Given the description of an element on the screen output the (x, y) to click on. 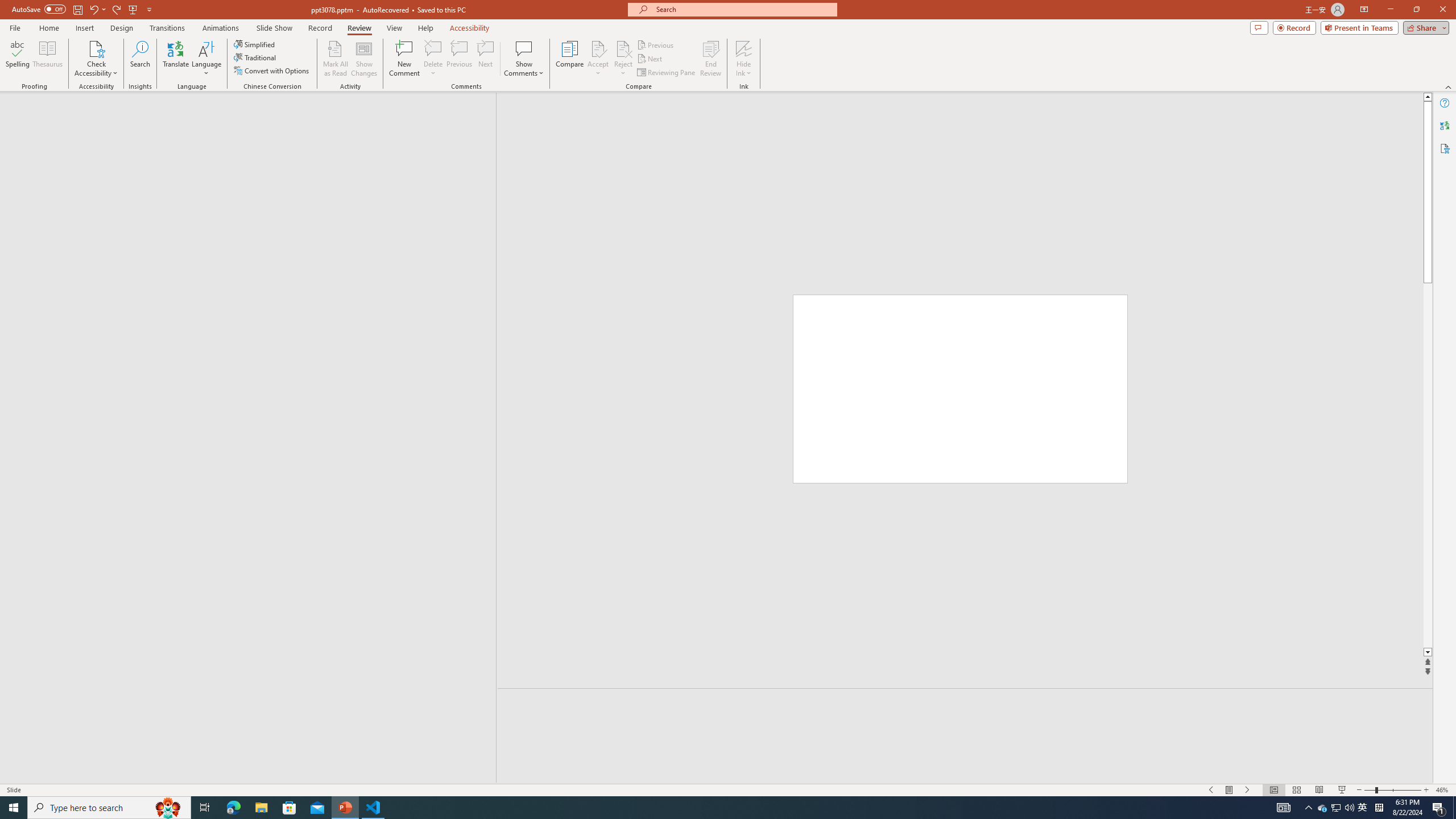
Traditional (255, 56)
Class: MsoCommandBar (728, 789)
Accept (598, 58)
Hide Ink (743, 48)
Show Comments (524, 58)
Reject (622, 58)
Check Accessibility (95, 48)
